Given the description of an element on the screen output the (x, y) to click on. 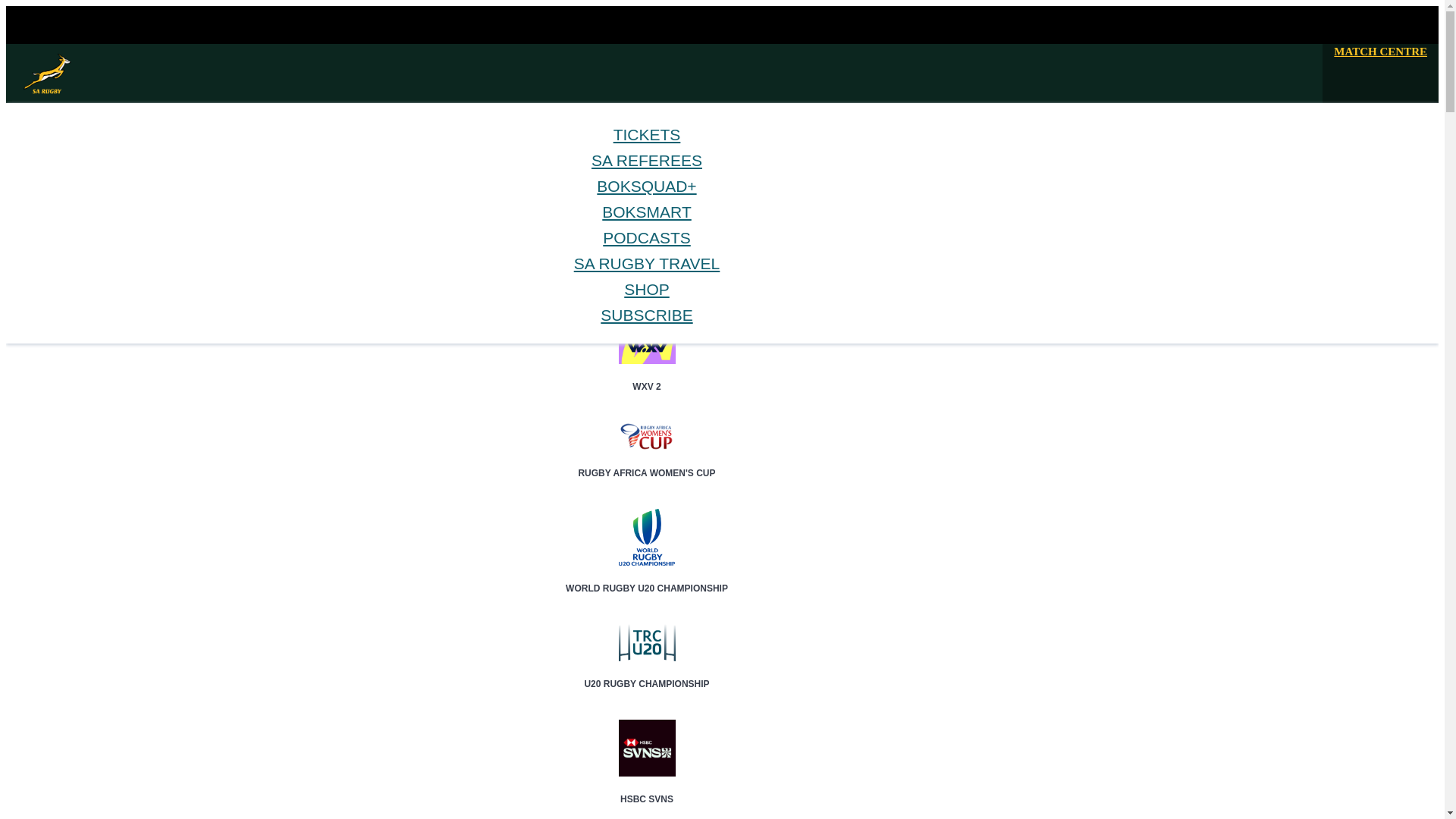
MORE (74, 255)
TICKETS (646, 134)
BOKSMART (88, 243)
TOURNAMENTS (98, 216)
U20 RUGBY CHAMPIONSHIP (647, 670)
RUGBY AFRICA WOMEN'S CUP (647, 460)
WORLD RUGBY U20 CHAMPIONSHIP (647, 575)
WXV 2 (647, 373)
CASTLE LAGER RUGBY CHAMPS (647, 283)
SPRINGBOKS (91, 191)
HSBC SVNS (647, 786)
MATCH CENTRE (1380, 51)
BOKSQUAD (87, 229)
SA REFEREES (646, 159)
